Given the description of an element on the screen output the (x, y) to click on. 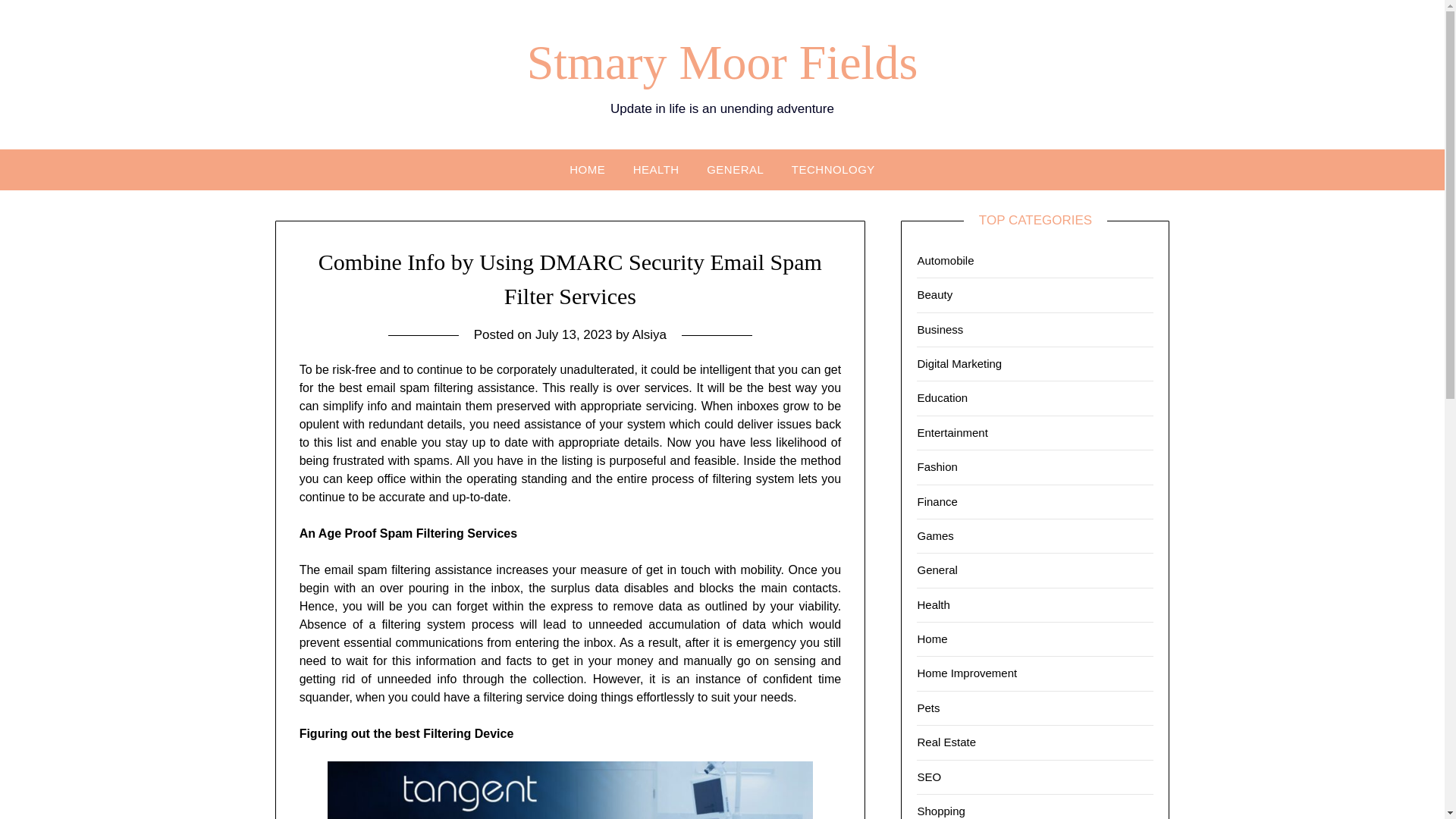
Digital Marketing (959, 363)
Automobile (945, 259)
Beauty (934, 294)
TECHNOLOGY (832, 168)
Real Estate (946, 741)
Health (933, 604)
Fashion (936, 466)
GENERAL (735, 168)
Business (939, 328)
Home (932, 638)
Home Improvement (966, 672)
Stmary Moor Fields (722, 62)
July 13, 2023 (573, 334)
Shopping (940, 810)
HEALTH (656, 168)
